Given the description of an element on the screen output the (x, y) to click on. 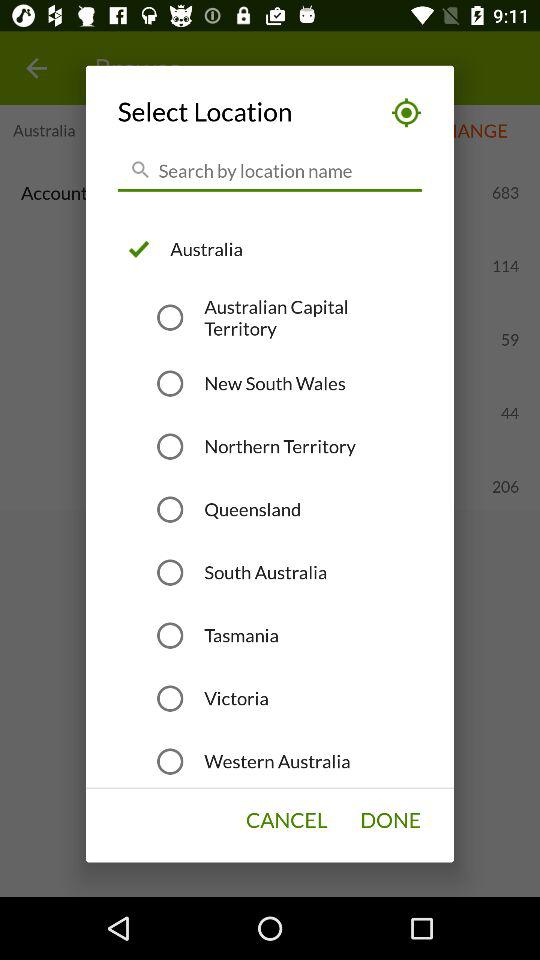
select the item above the northern territory (274, 383)
